Given the description of an element on the screen output the (x, y) to click on. 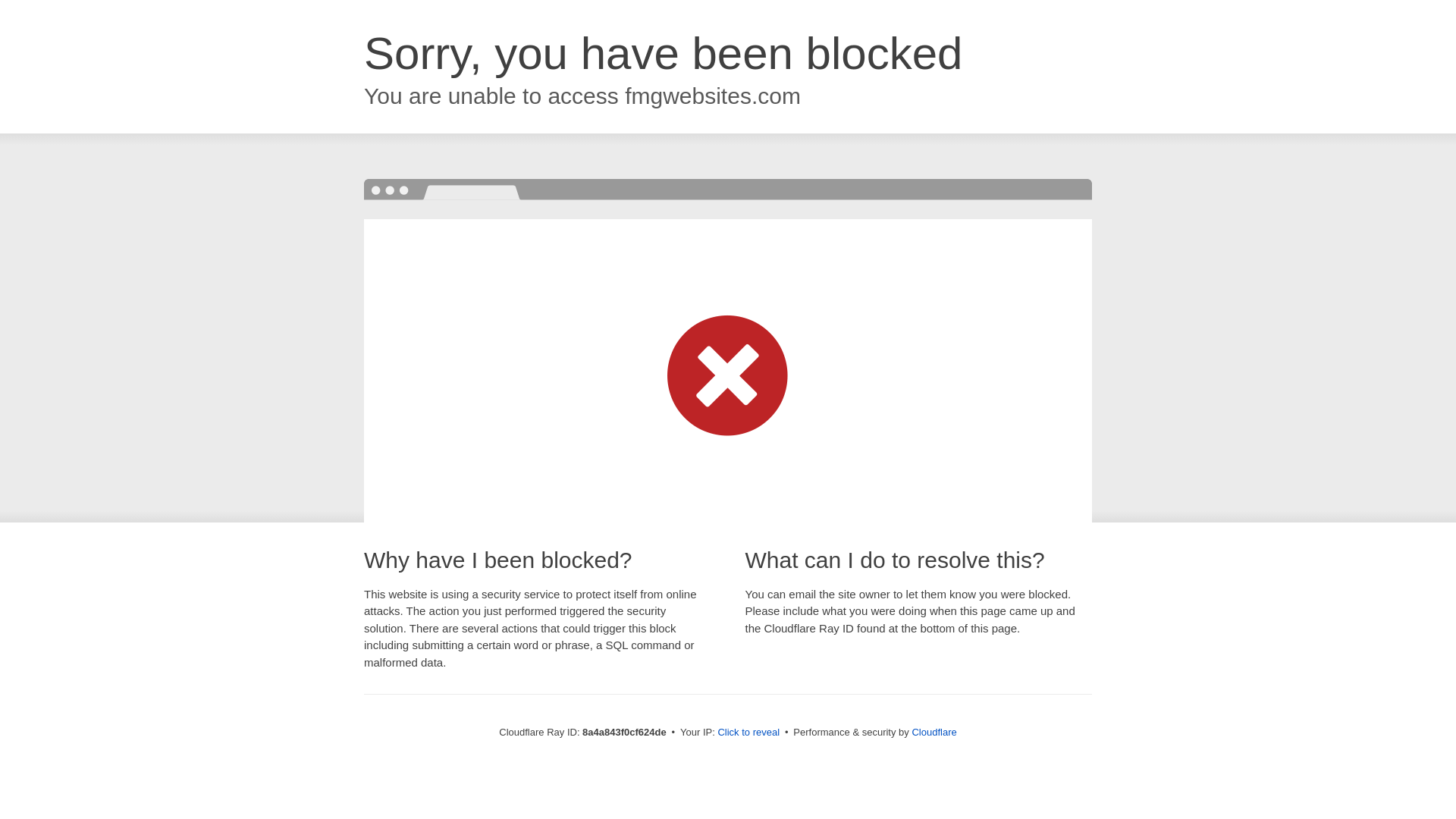
Cloudflare (933, 731)
Click to reveal (747, 732)
